Given the description of an element on the screen output the (x, y) to click on. 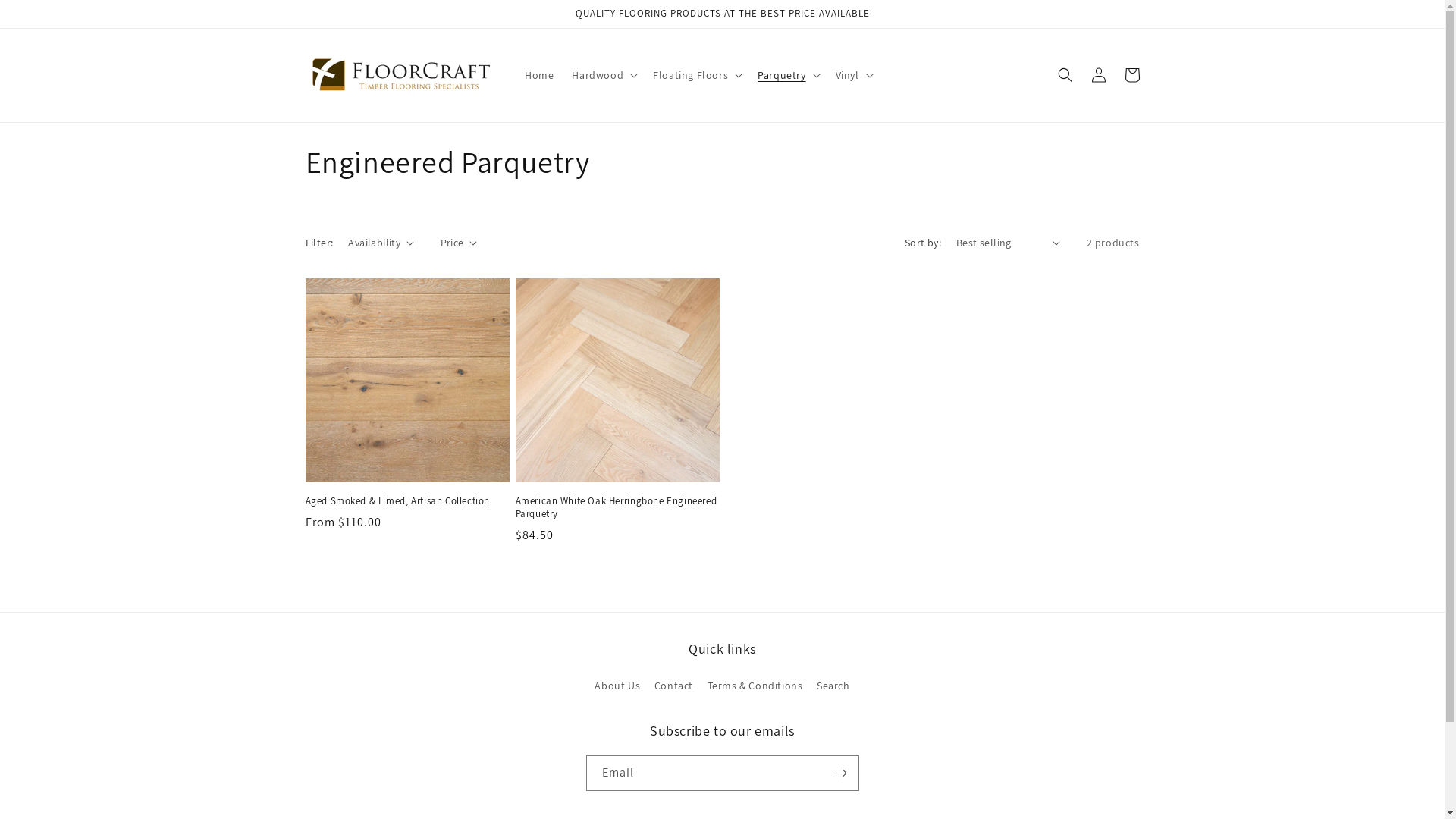
Aged Smoked & Limed, Artisan Collection Element type: text (406, 501)
Contact Element type: text (673, 685)
Search Element type: text (833, 685)
Cart Element type: text (1131, 74)
American White Oak Herringbone Engineered Parquetry Element type: text (617, 507)
Terms & Conditions Element type: text (755, 685)
Home Element type: text (538, 75)
About Us Element type: text (617, 687)
Log in Element type: text (1097, 74)
